Given the description of an element on the screen output the (x, y) to click on. 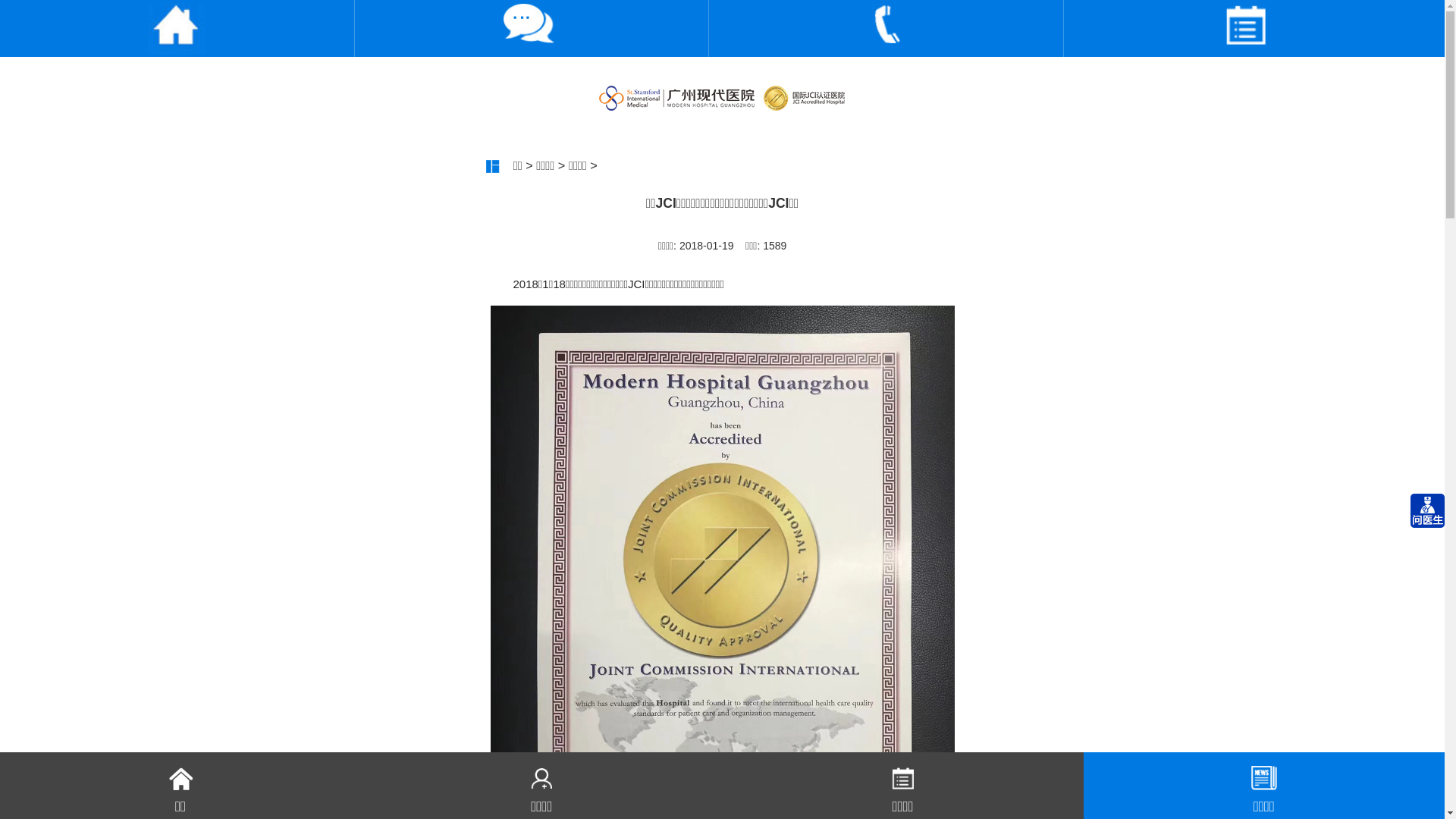
0 Element type: text (1245, 28)
